Given the description of an element on the screen output the (x, y) to click on. 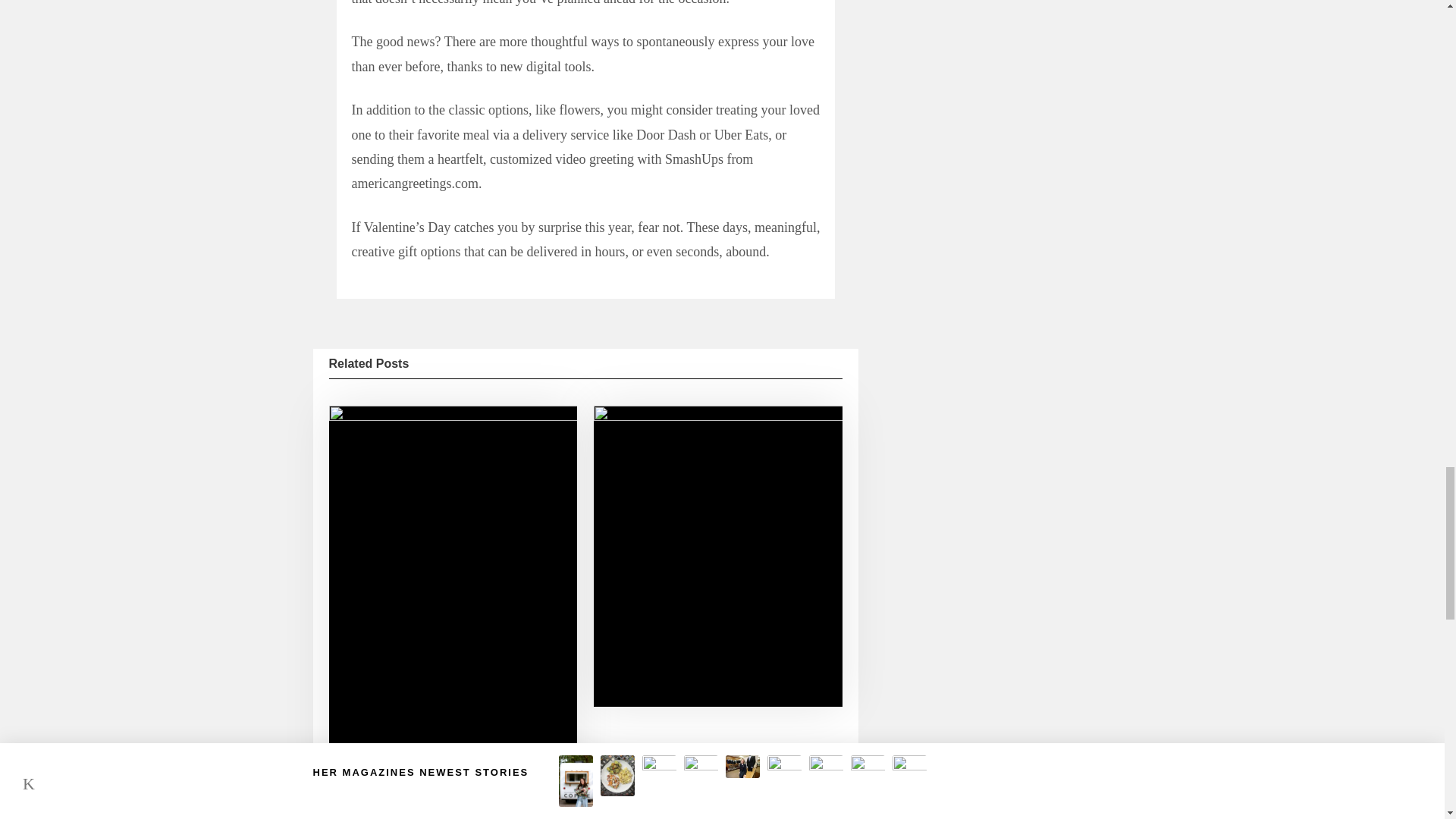
Posts by by gretchen mckay (673, 810)
